Given the description of an element on the screen output the (x, y) to click on. 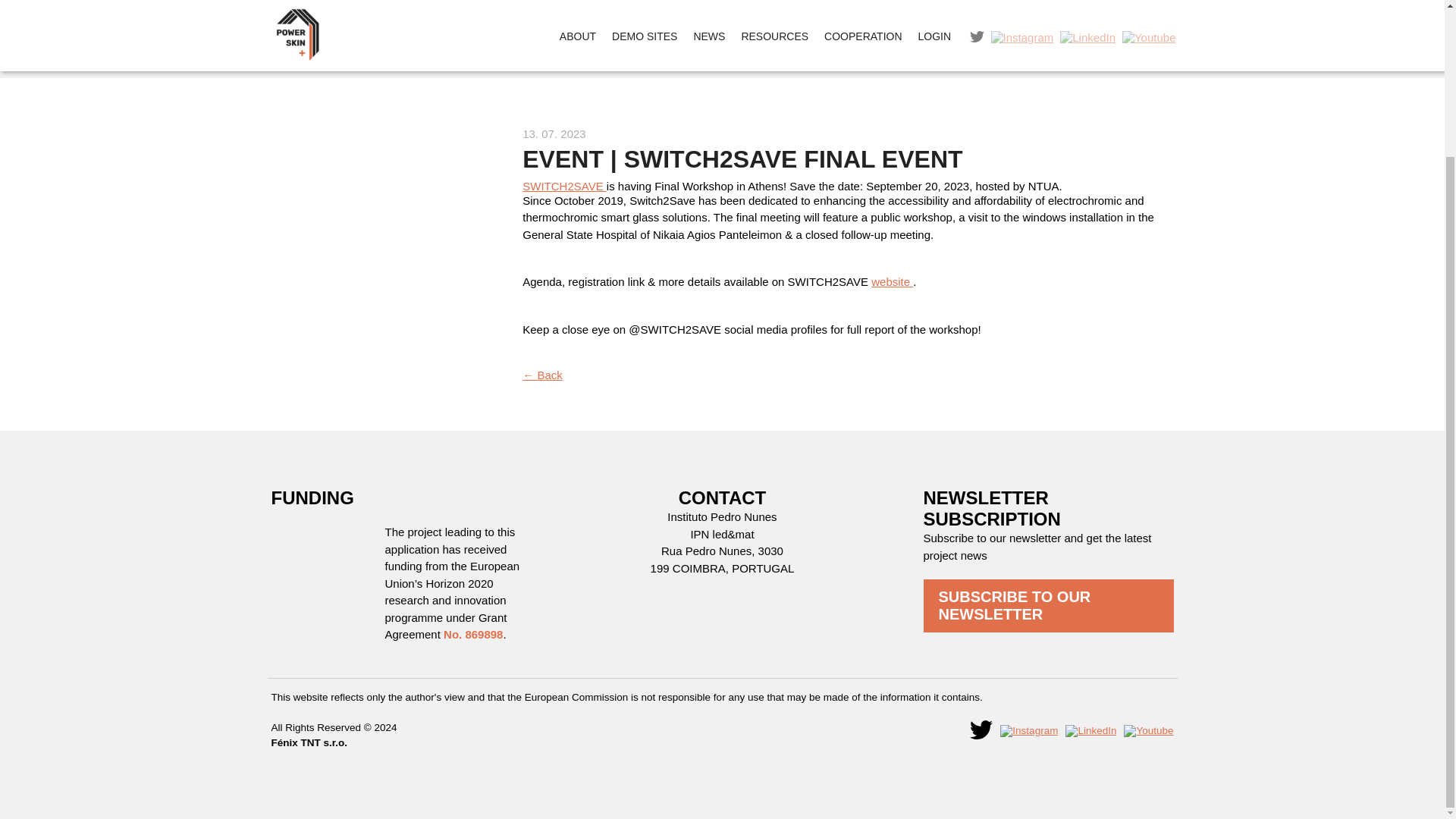
website (891, 281)
SUBSCRIBE TO OUR NEWSLETTER (1048, 605)
SWITCH2SAVE (564, 185)
